Given the description of an element on the screen output the (x, y) to click on. 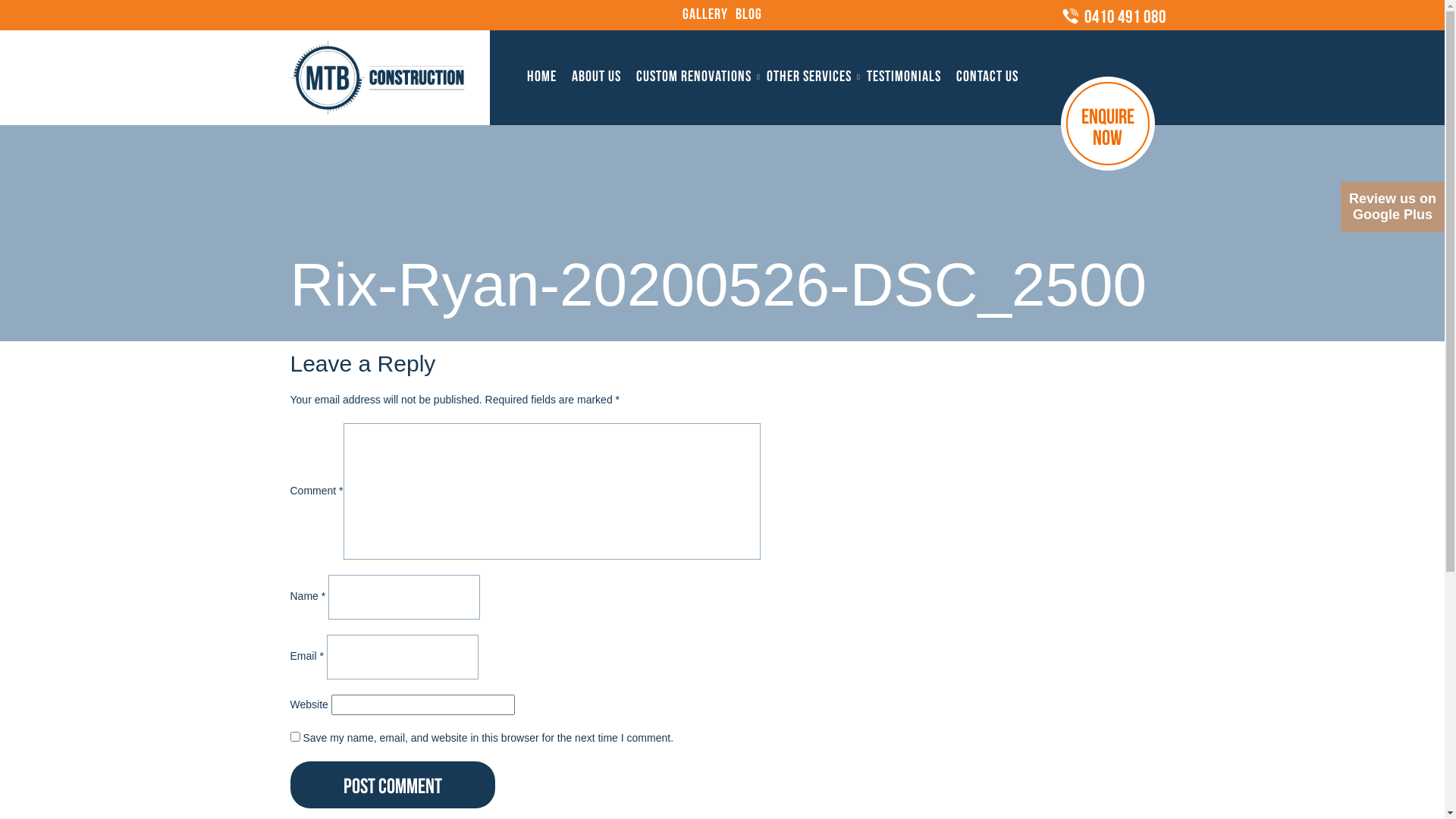
Custom Renovations Element type: text (693, 57)
Blog Element type: text (748, 15)
0410 491 080 Element type: text (1113, 18)
Other Services Element type: text (809, 57)
Gallery Element type: text (705, 15)
Post Comment Element type: text (391, 784)
ENQUIRE NOW Element type: text (1107, 122)
Home Element type: text (541, 57)
Contact Us Element type: text (987, 57)
Testimonials Element type: text (903, 57)
Review us on
Google Plus Element type: text (1392, 207)
About Us Element type: text (596, 57)
